Given the description of an element on the screen output the (x, y) to click on. 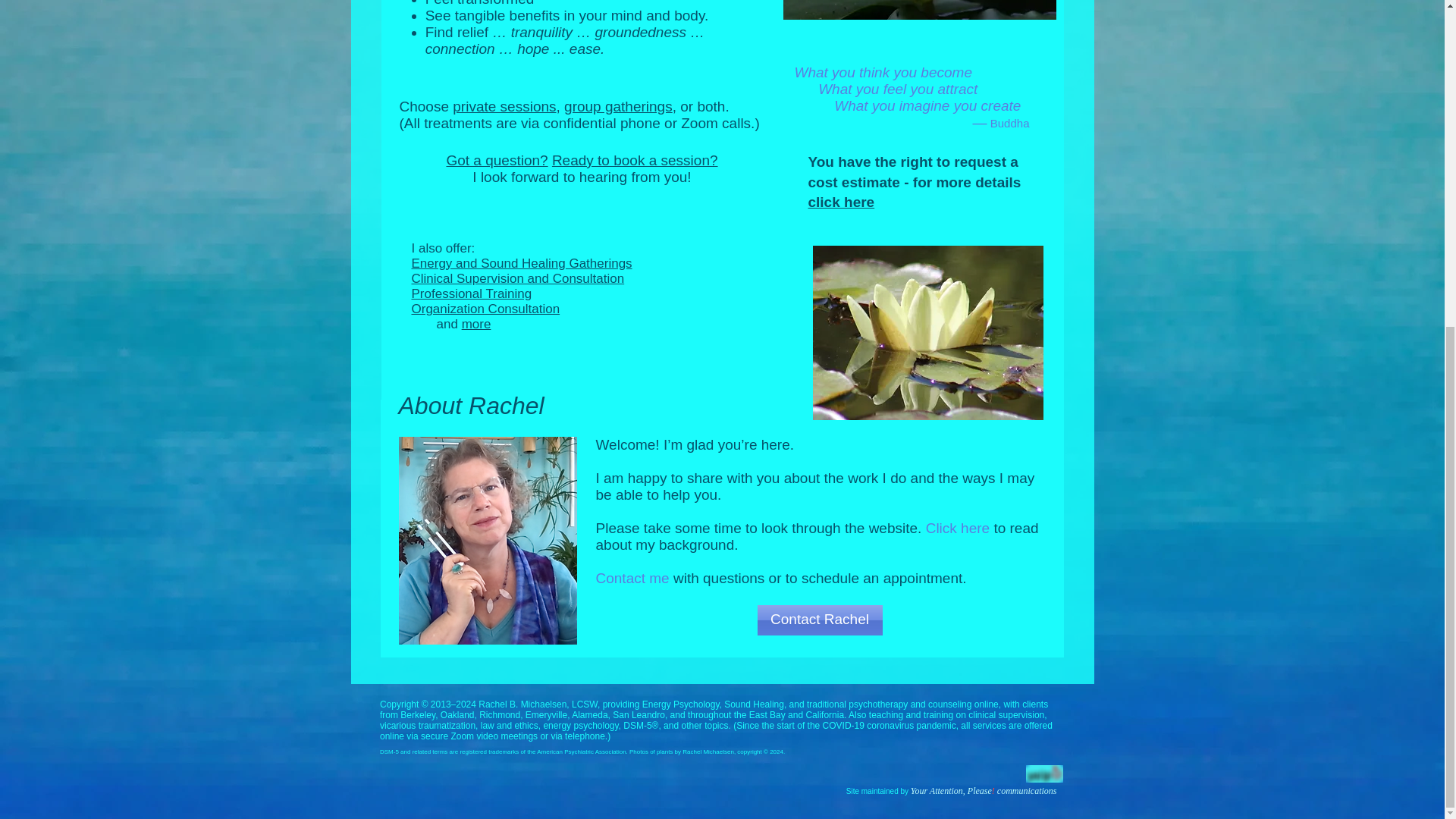
Energy and Sound Healing Gatherings (520, 263)
Clinical Supervision and Consultation (517, 278)
click here (841, 201)
Professional Training (470, 293)
Organization Consultation (484, 309)
Contact me with questions or to schedule an appointment. (780, 578)
Site maintained by Your Attention, Please! communications (951, 789)
group gatherings (618, 106)
more (476, 323)
Contact Rachel (819, 620)
Got a question? (496, 160)
private sessions (504, 106)
Ready to book a session? (634, 160)
lick here (963, 528)
Embedded Content (718, 737)
